Given the description of an element on the screen output the (x, y) to click on. 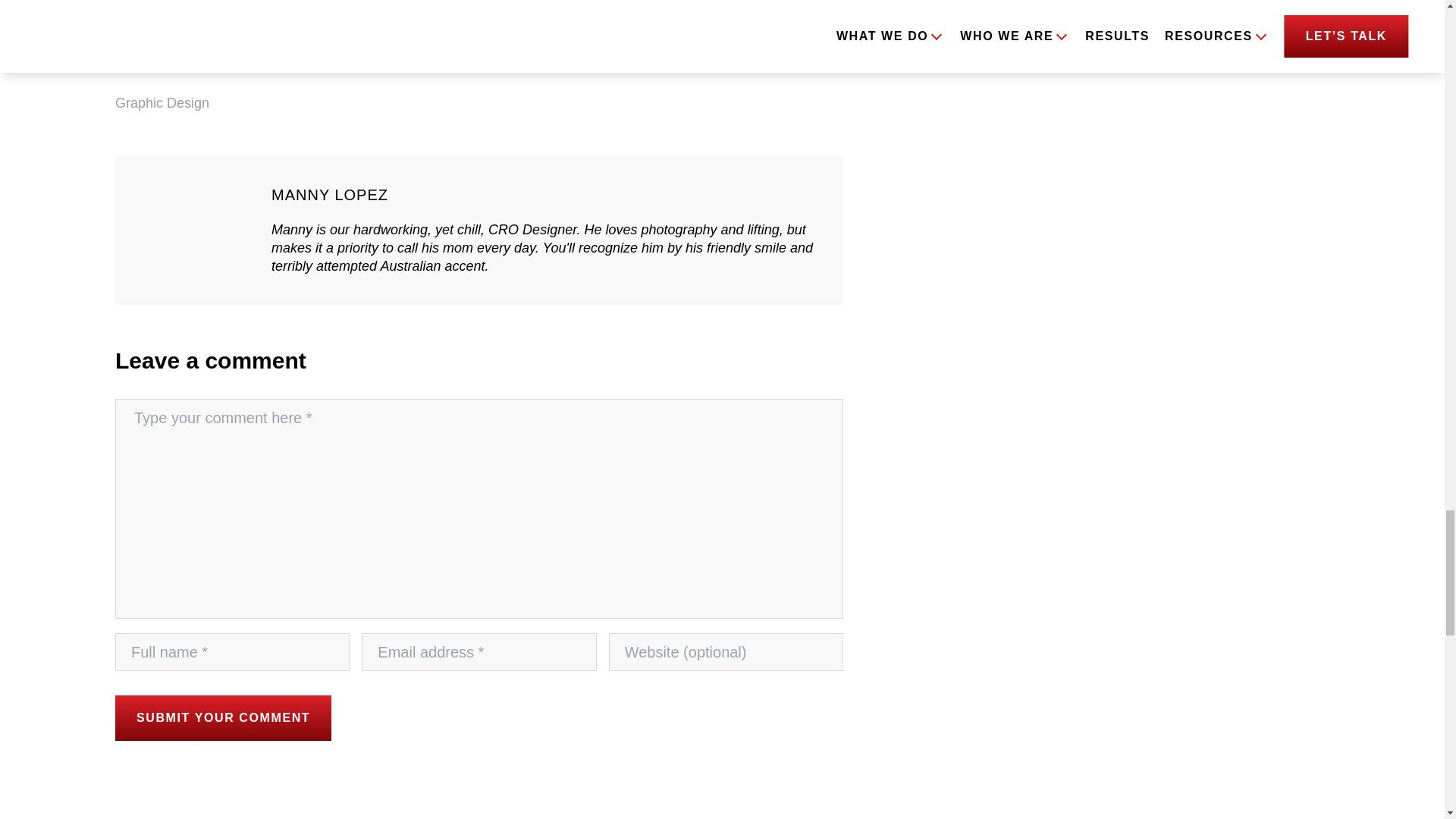
SUBMIT YOUR COMMENT (223, 718)
